Given the description of an element on the screen output the (x, y) to click on. 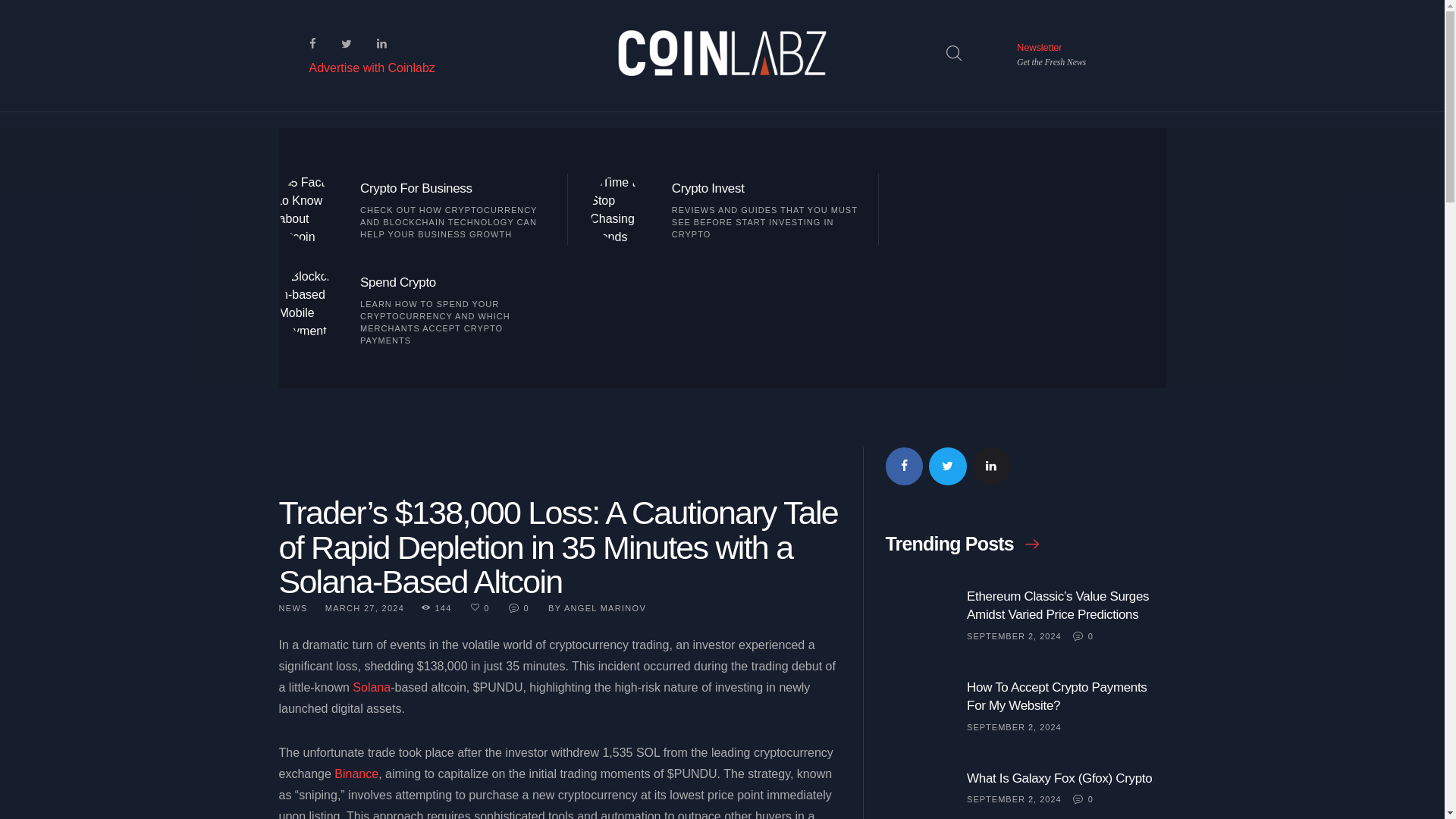
Crypto For Business (453, 188)
0 (526, 607)
Crypto Invest (765, 188)
Solana (371, 686)
Binance (356, 773)
144 (444, 607)
Advertise with Coinlabz (371, 67)
Spend Crypto (453, 282)
BY ANGEL MARINOV (597, 607)
0 (487, 607)
